Given the description of an element on the screen output the (x, y) to click on. 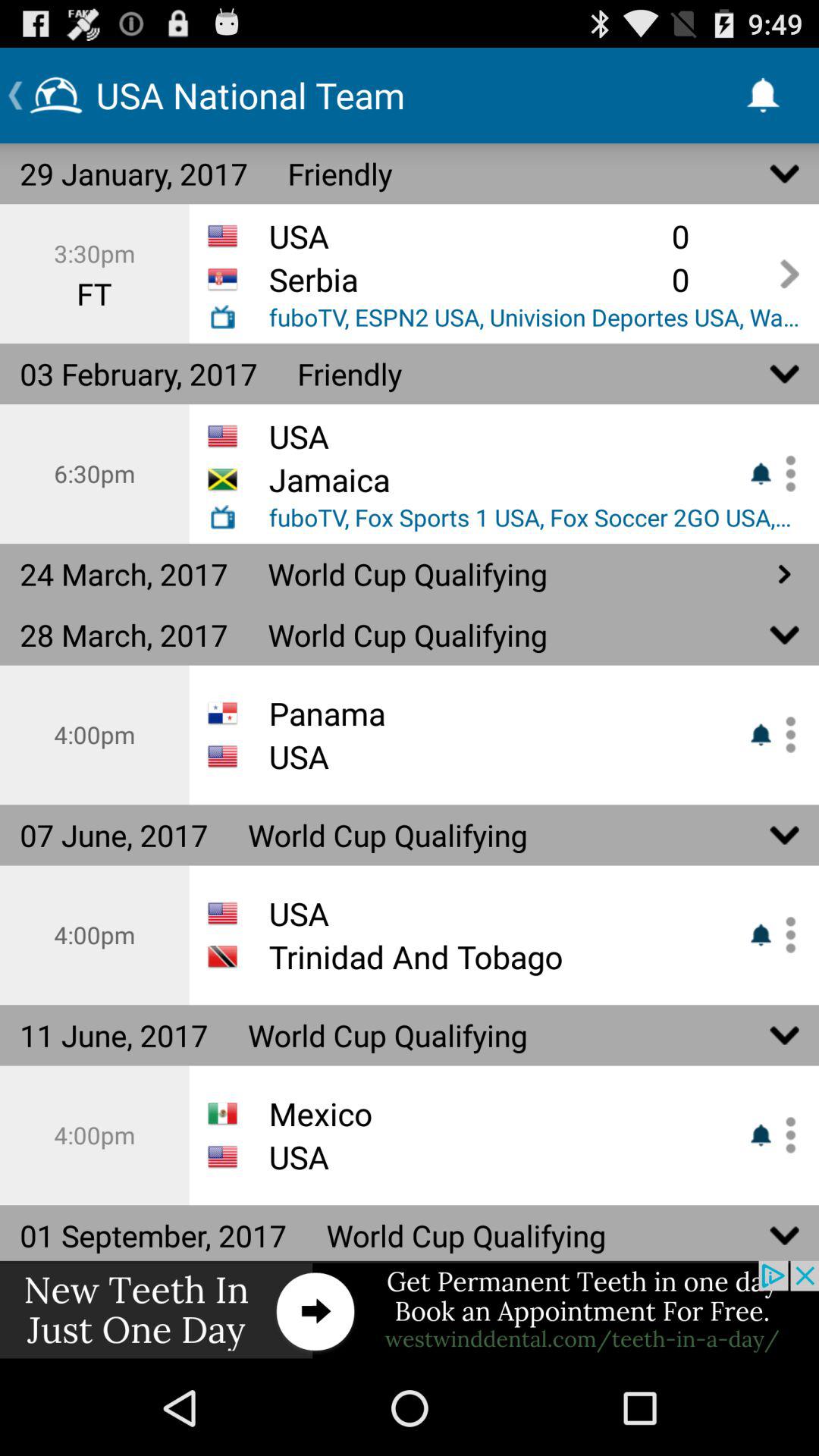
to view options (785, 473)
